Given the description of an element on the screen output the (x, y) to click on. 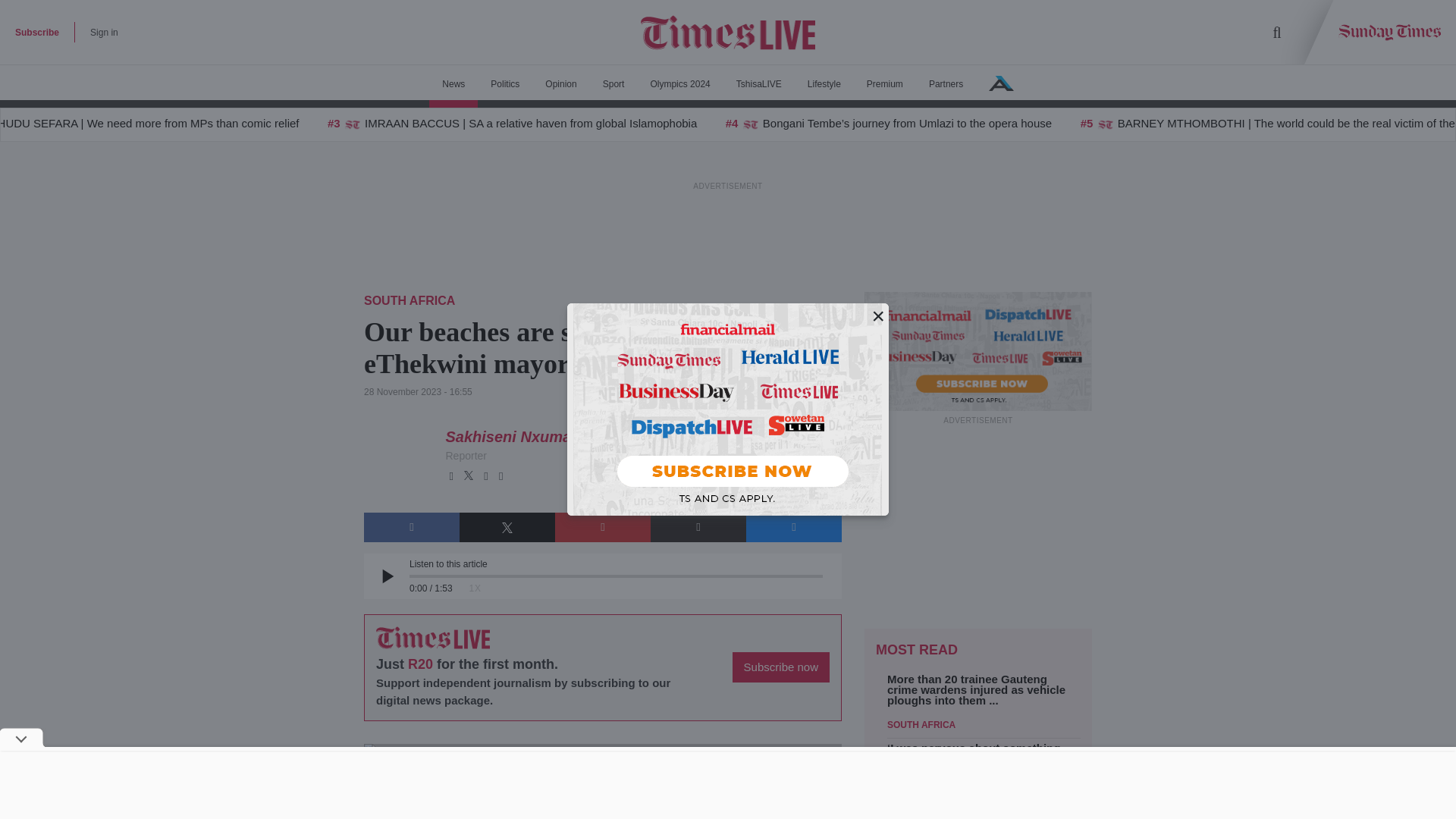
News (453, 84)
Lifestyle (823, 84)
Premium (884, 84)
Subscribe (36, 32)
Opinion (560, 84)
Our Network (1000, 83)
Politics (504, 84)
Partners (945, 84)
TshisaLIVE (758, 84)
Olympics 2024 (679, 84)
3rd party ad content (727, 227)
Sport (613, 84)
Sign in (103, 32)
